Given the description of an element on the screen output the (x, y) to click on. 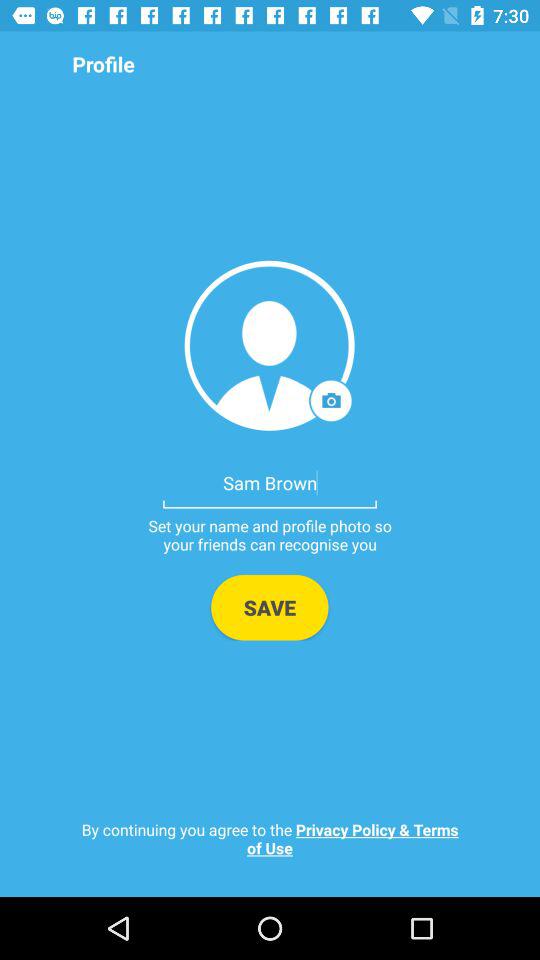
scroll until by continuing you (269, 838)
